Given the description of an element on the screen output the (x, y) to click on. 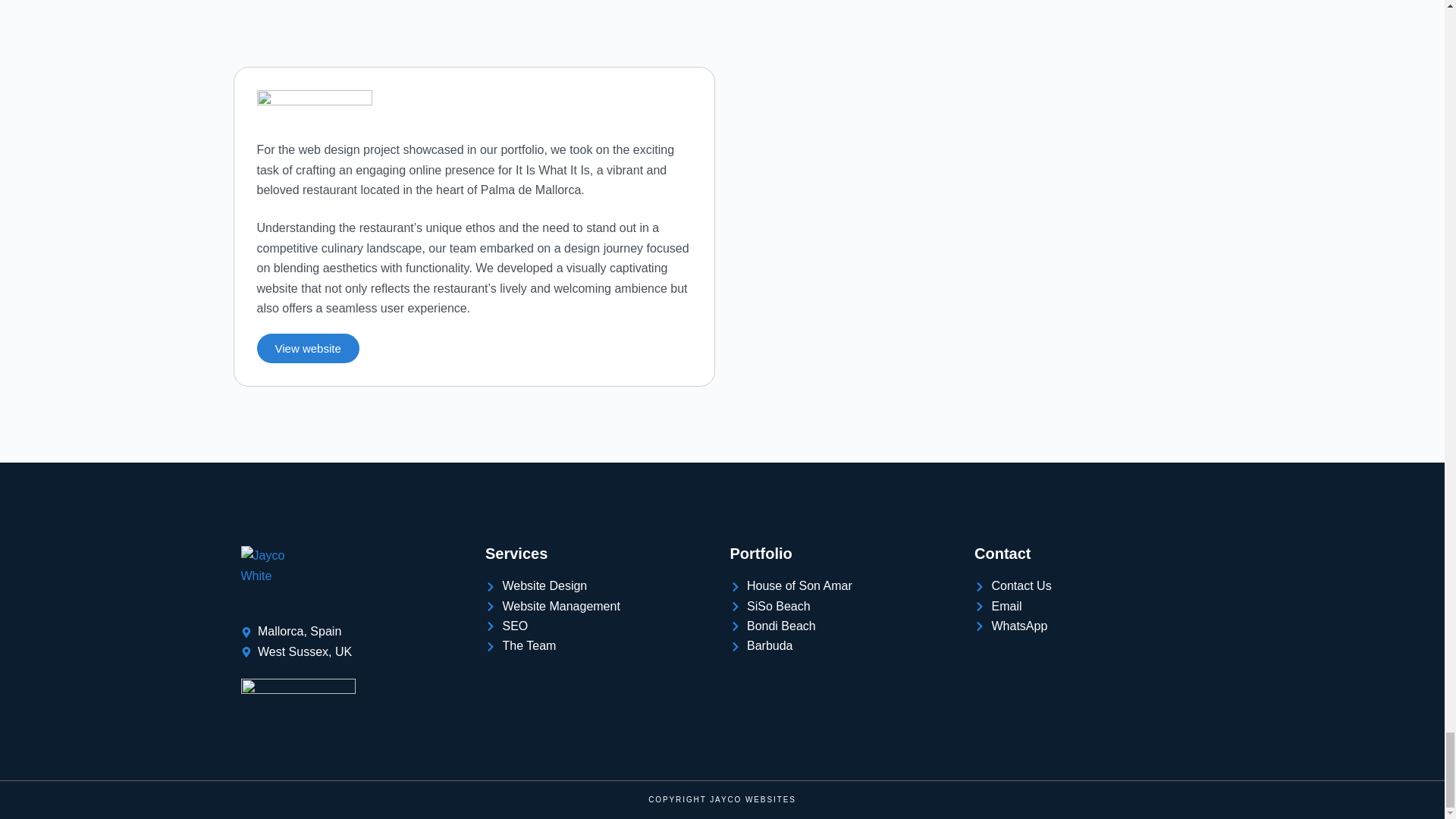
Website Management (599, 606)
Mallorca, Spain (355, 631)
View website (307, 348)
Website Design (599, 586)
